Given the description of an element on the screen output the (x, y) to click on. 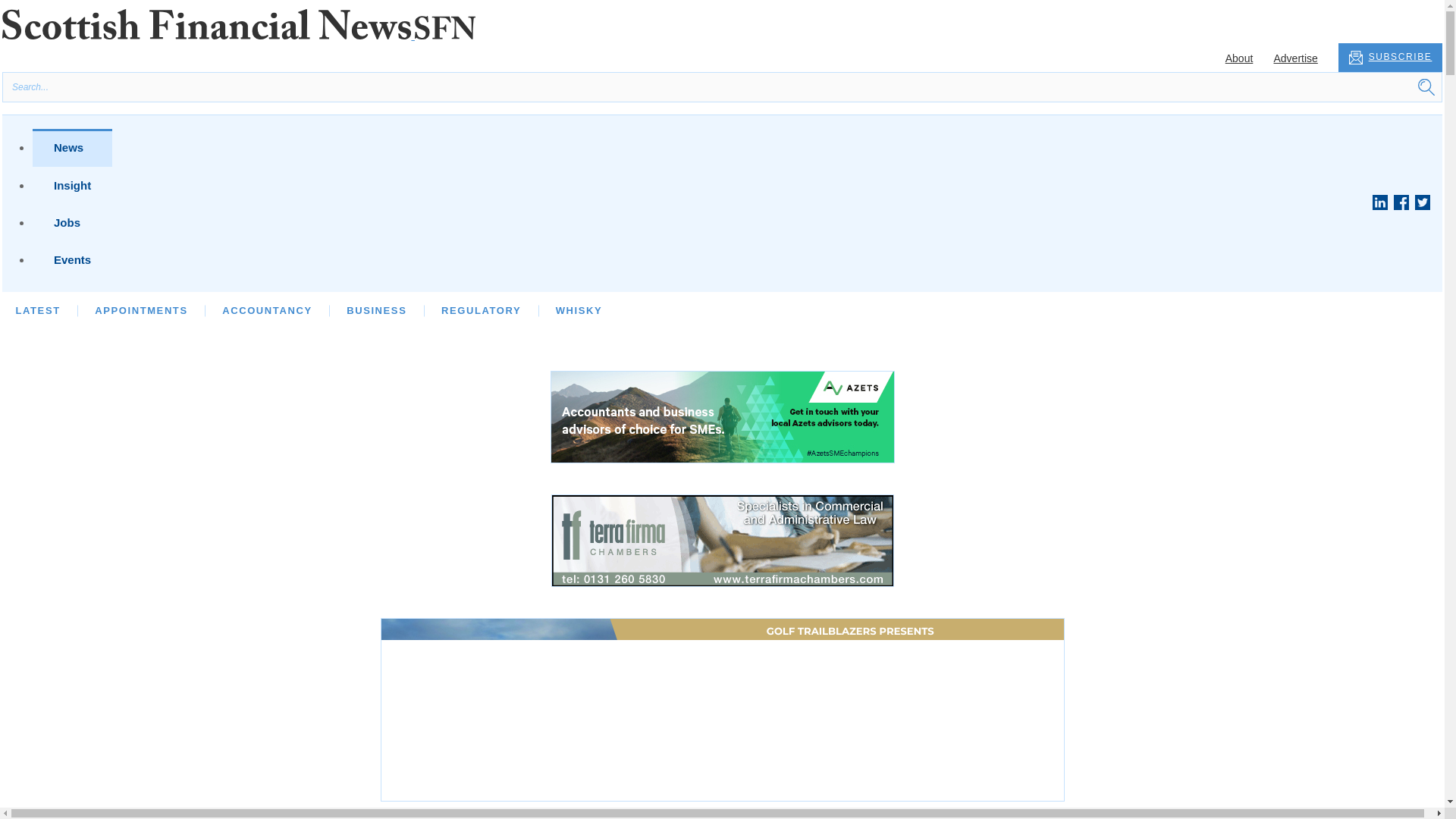
SUBSCRIBE (1390, 57)
BUSINESS (376, 310)
WHISKY (579, 310)
Advertise (1295, 58)
News (72, 147)
Events (72, 259)
LATEST (36, 310)
ACCOUNTANCY (266, 310)
INTERVIEWS (216, 310)
Jobs (72, 221)
